Given the description of an element on the screen output the (x, y) to click on. 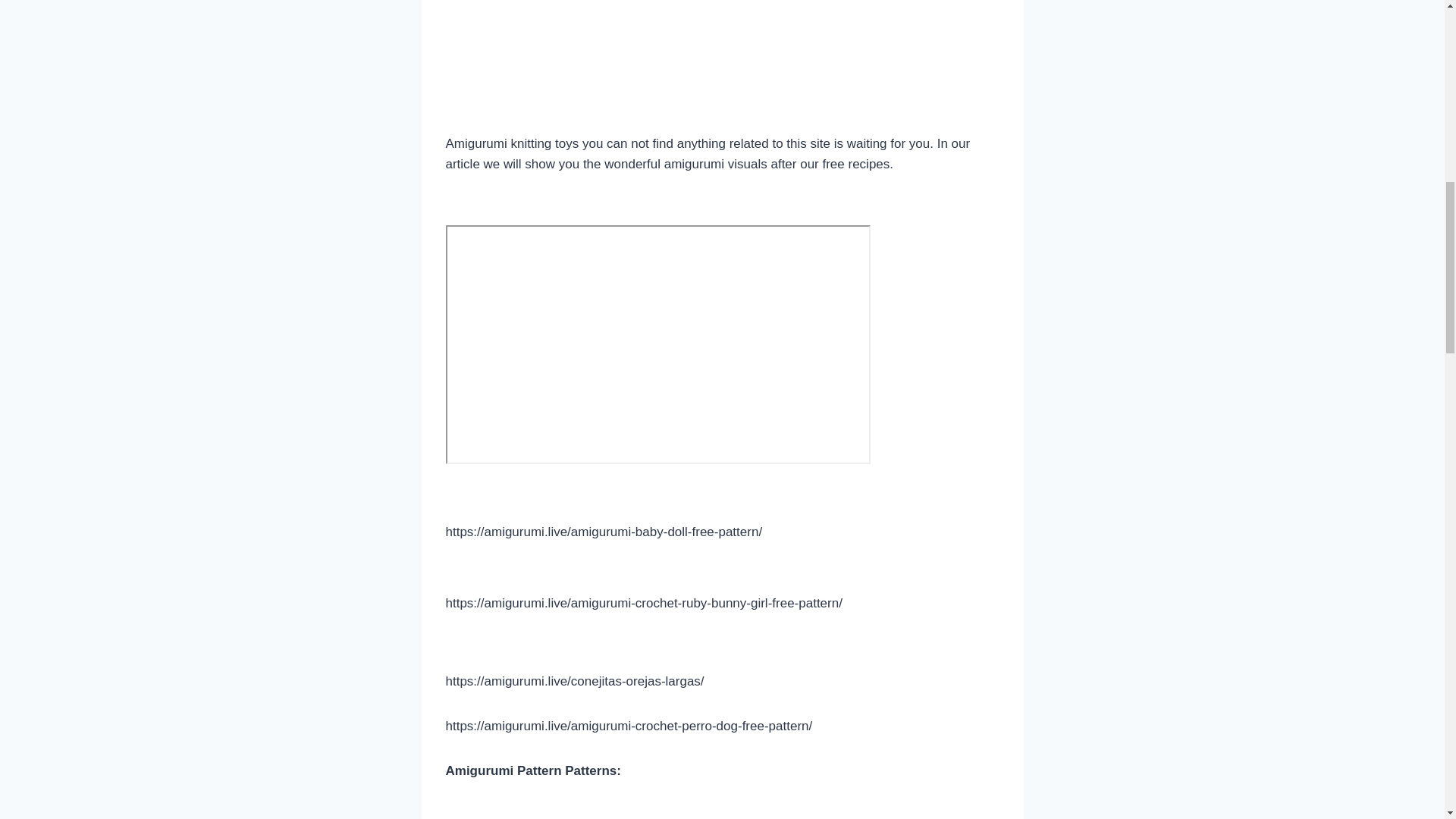
Advertisement (721, 63)
